Given the description of an element on the screen output the (x, y) to click on. 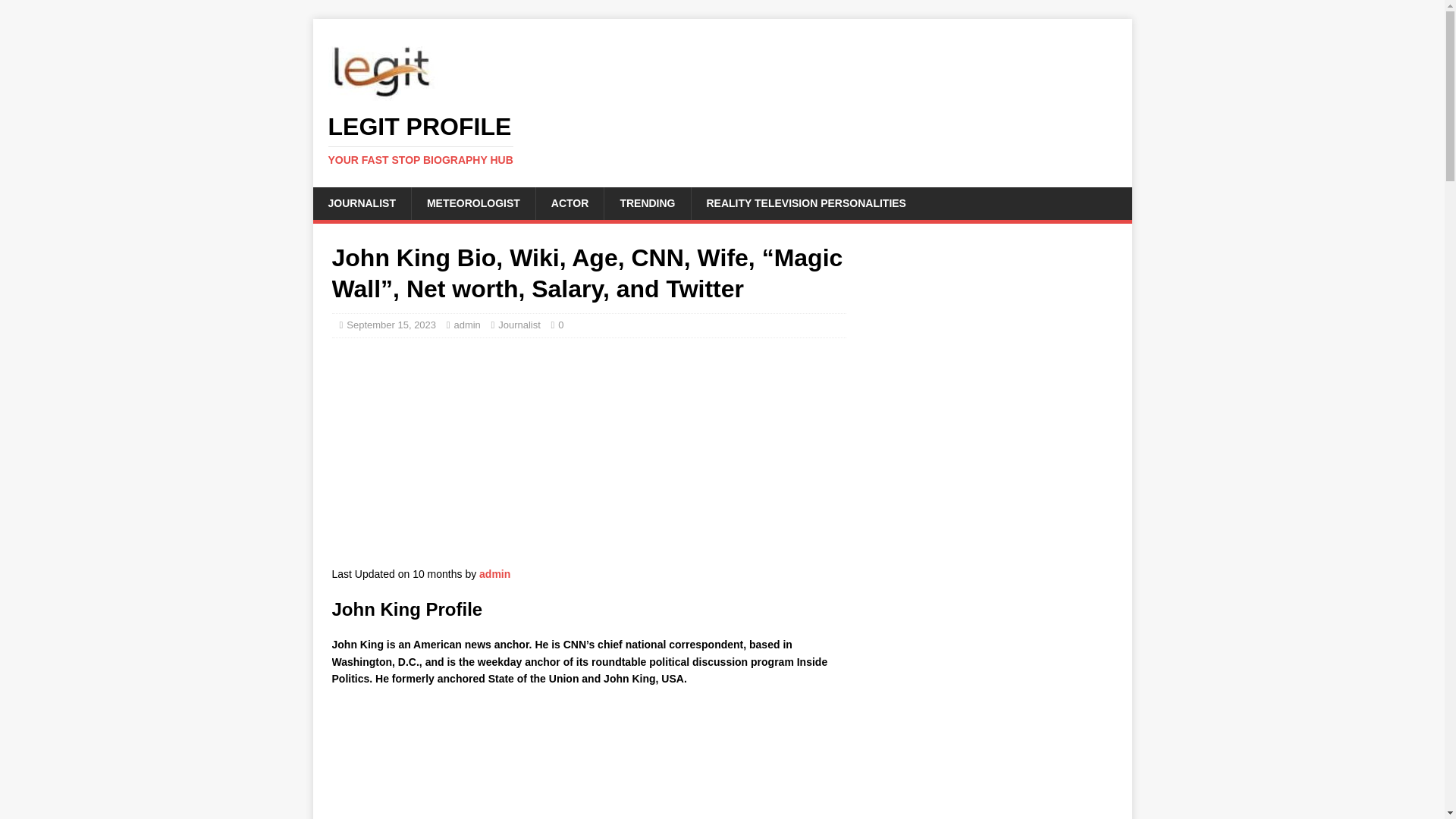
TRENDING (647, 203)
Advertisement (588, 458)
METEOROLOGIST (472, 203)
admin (721, 140)
Journalist (466, 324)
REALITY TELEVISION PERSONALITIES (518, 324)
ACTOR (805, 203)
Legit Profile (569, 203)
JOURNALIST (721, 140)
admin (361, 203)
Advertisement (495, 573)
September 15, 2023 (588, 760)
